Given the description of an element on the screen output the (x, y) to click on. 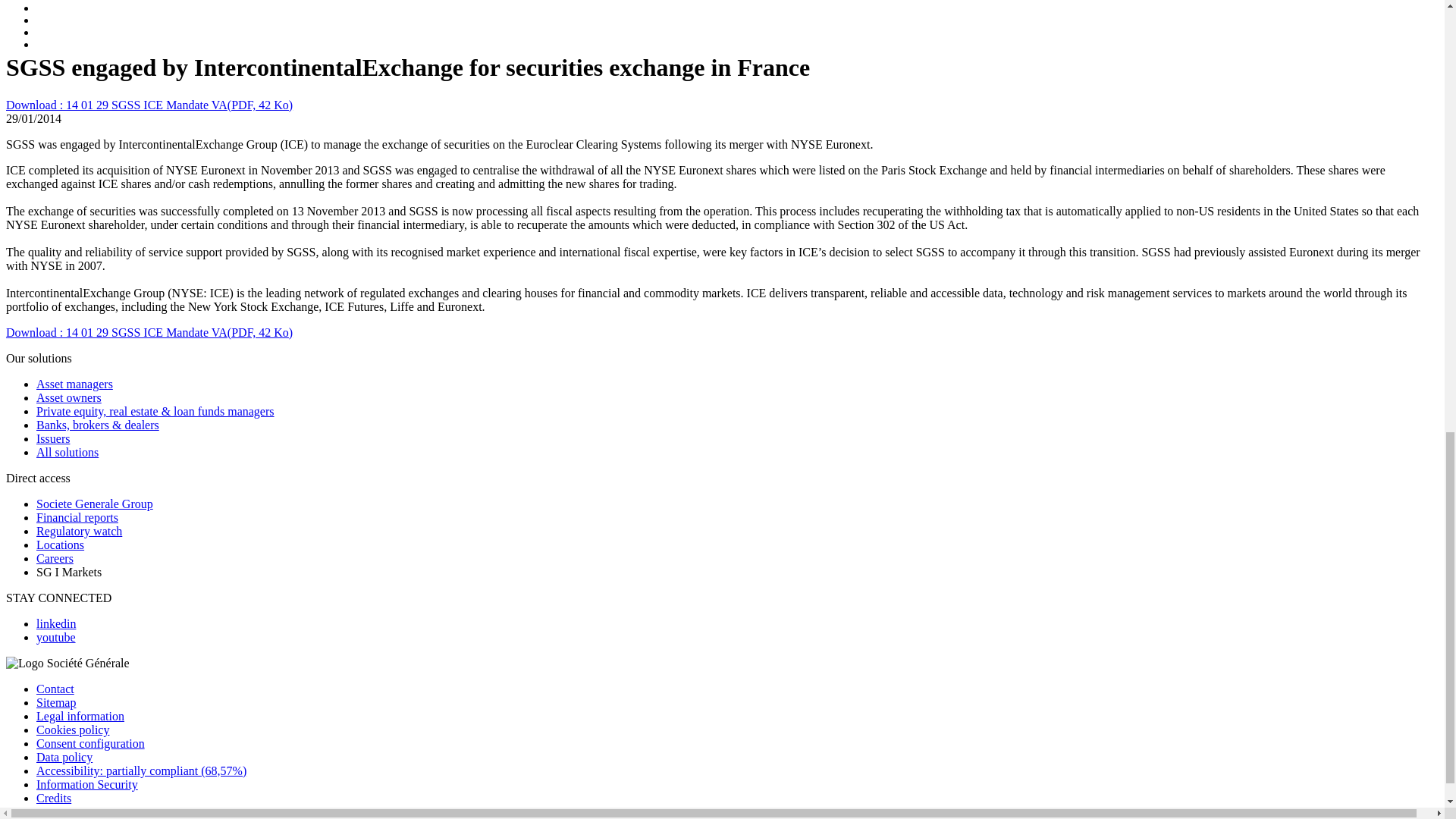
Societe Generale Group - New tab (94, 503)
Link to the Societe Generale careers website - New tab (55, 558)
List of our locations - Same tab (60, 544)
